Given the description of an element on the screen output the (x, y) to click on. 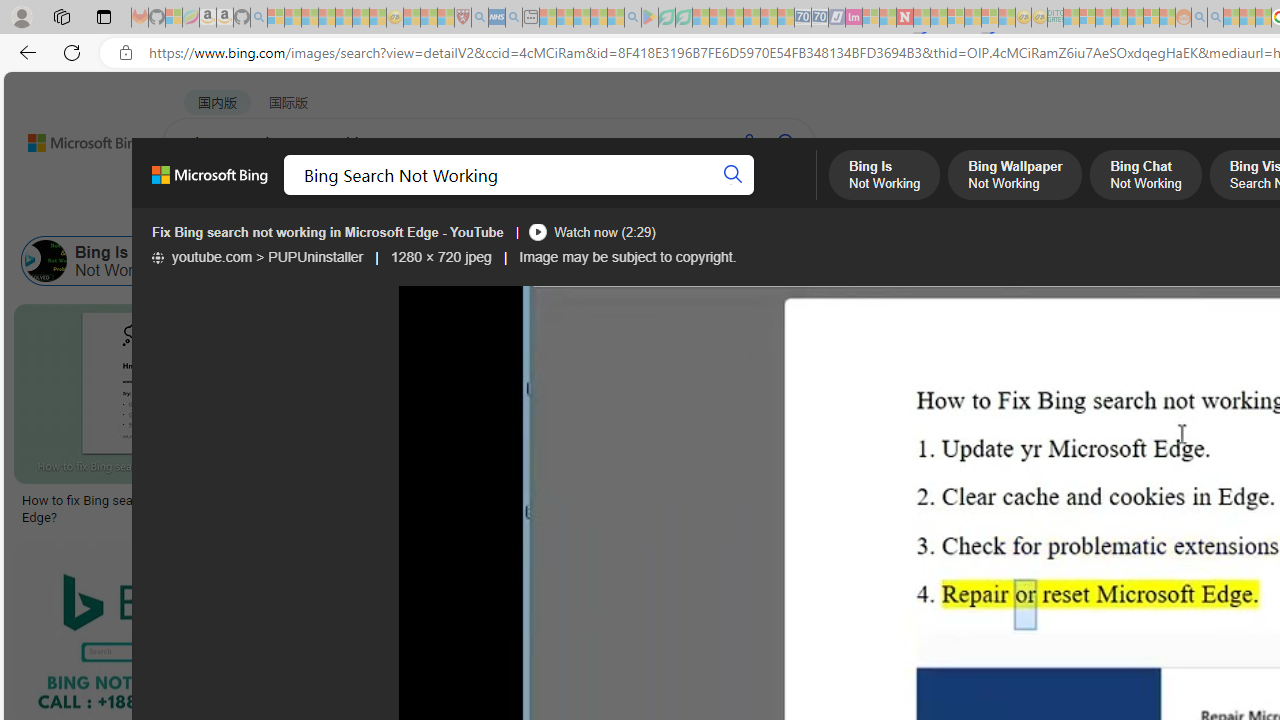
Remove Bing Search (812, 260)
Fix Bing search not working in Microsoft Edge - YouTube (327, 232)
Bing Wallpaper Not Working (286, 260)
Bing Wallpaper Not Working (216, 260)
Bluey: Let's Play! - Apps on Google Play - Sleeping (649, 17)
Latest Politics News & Archive | Newsweek.com - Sleeping (904, 17)
Bing Chat Not Working (415, 260)
Bing Visual Search Not Working (586, 260)
ACADEMIC (635, 195)
